Given the description of an element on the screen output the (x, y) to click on. 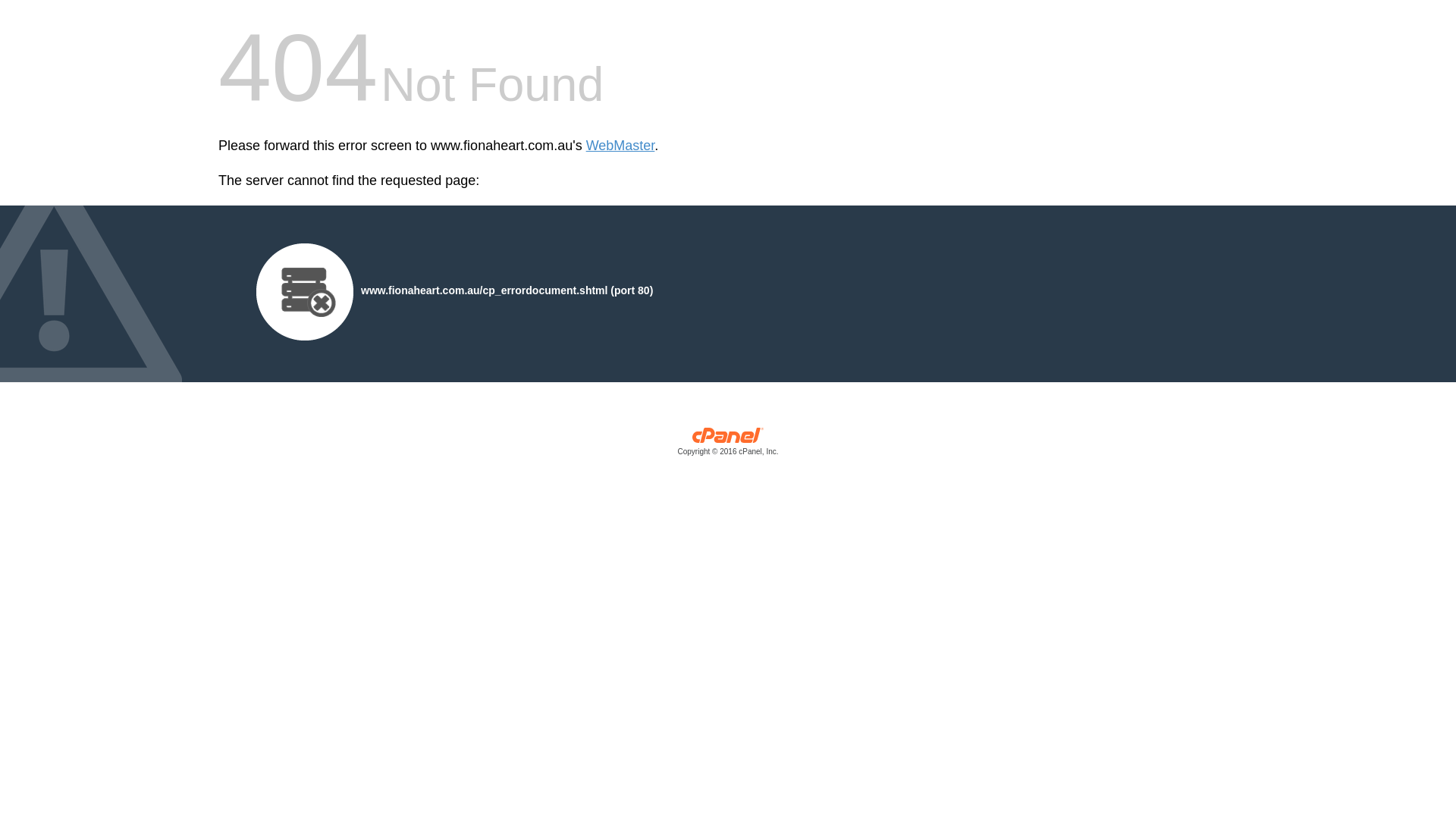
WebMaster Element type: text (620, 145)
